Given the description of an element on the screen output the (x, y) to click on. 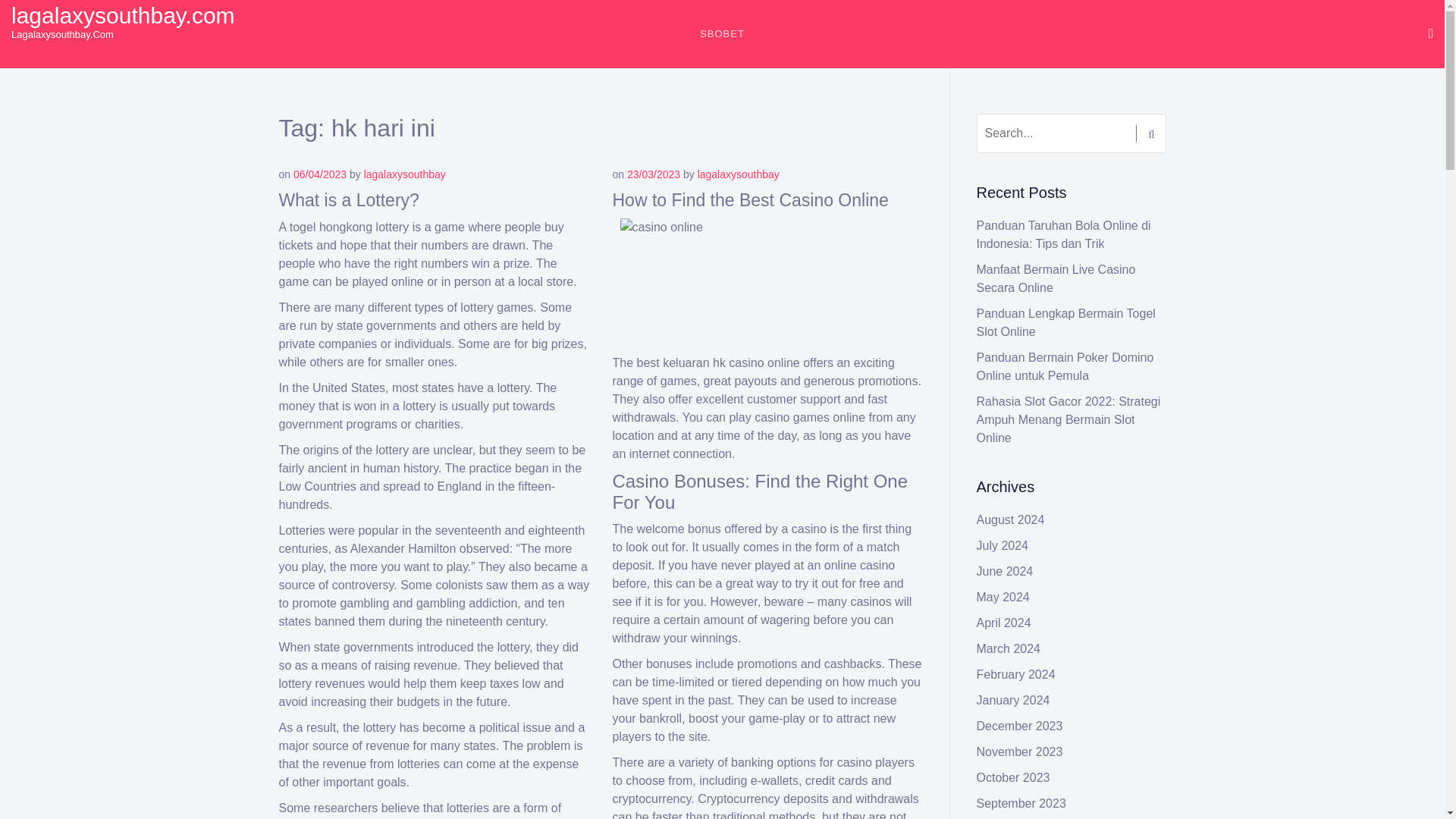
August 2024 (1010, 519)
lagalaxysouthbay.com (122, 15)
Panduan Taruhan Bola Online di Indonesia: Tips dan Trik (1063, 234)
lagalaxysouthbay (737, 174)
February 2024 (1015, 674)
April 2024 (1003, 622)
July 2024 (1002, 545)
lagalaxysouthbay (404, 174)
SBOBET (721, 33)
